Given the description of an element on the screen output the (x, y) to click on. 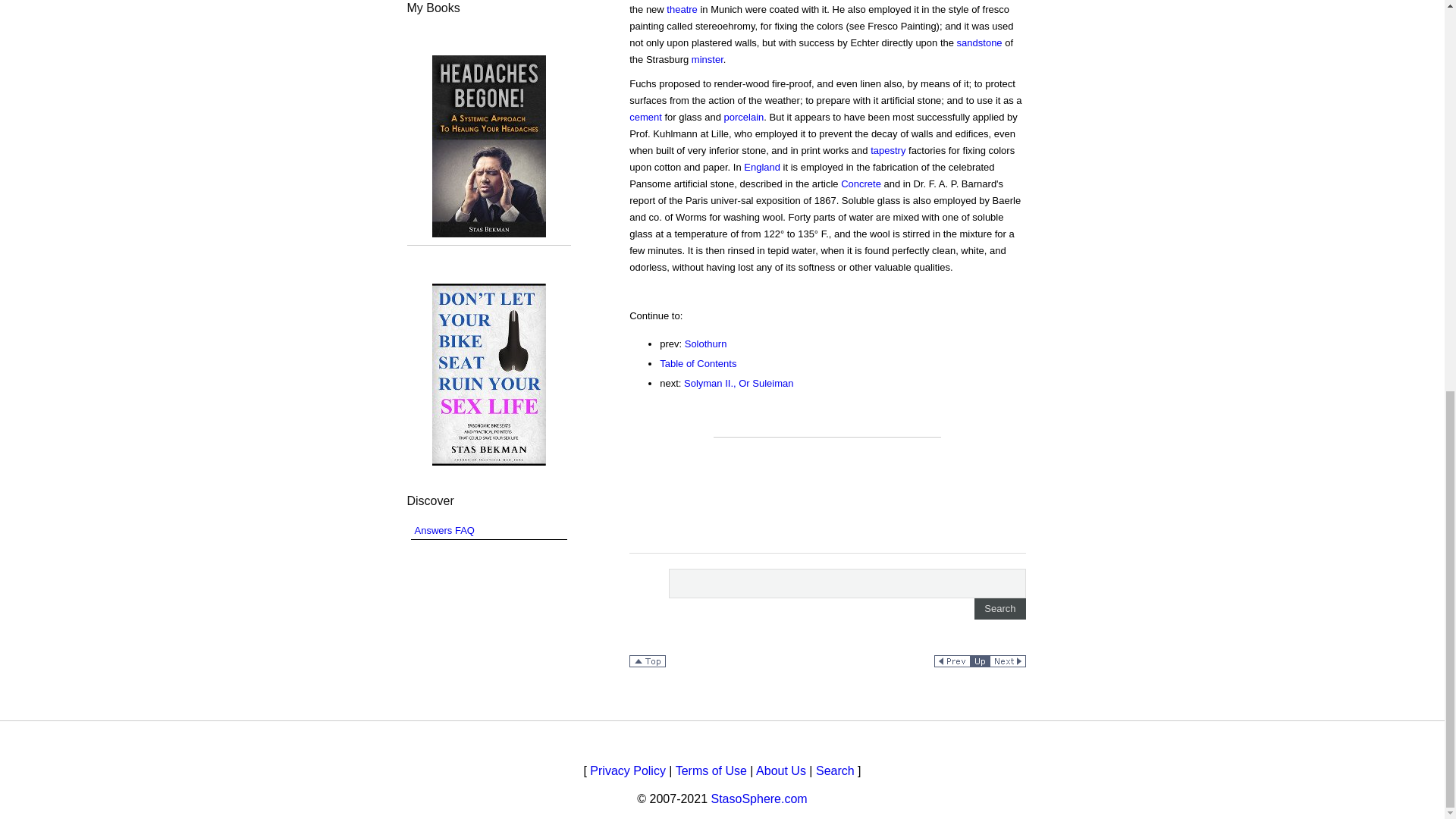
Search (999, 608)
tapestry (887, 150)
minster (707, 59)
Search (999, 608)
England (762, 166)
porcelain (742, 116)
Solothurn (705, 343)
Concrete (860, 183)
Solyman II., Or Suleiman (738, 383)
theatre (681, 9)
sandstone (979, 42)
Table of Contents (697, 363)
cement (645, 116)
